Given the description of an element on the screen output the (x, y) to click on. 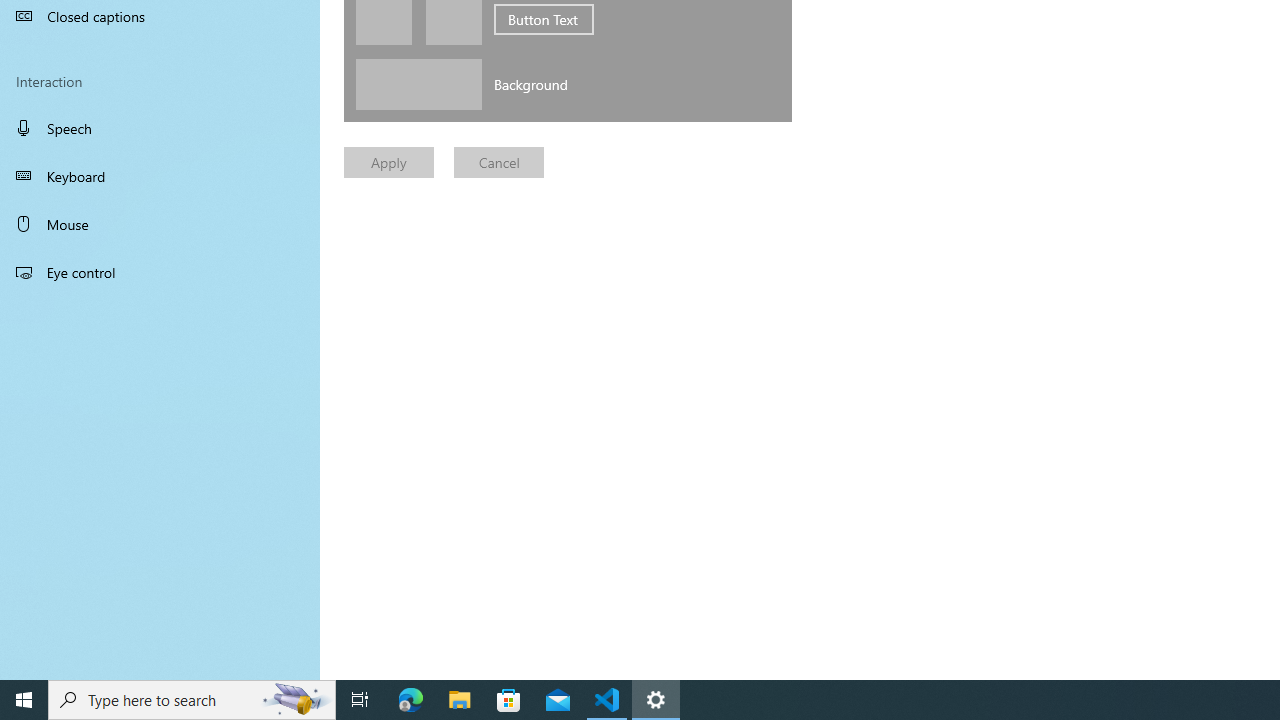
Mouse (160, 223)
Keyboard (160, 175)
